Given the description of an element on the screen output the (x, y) to click on. 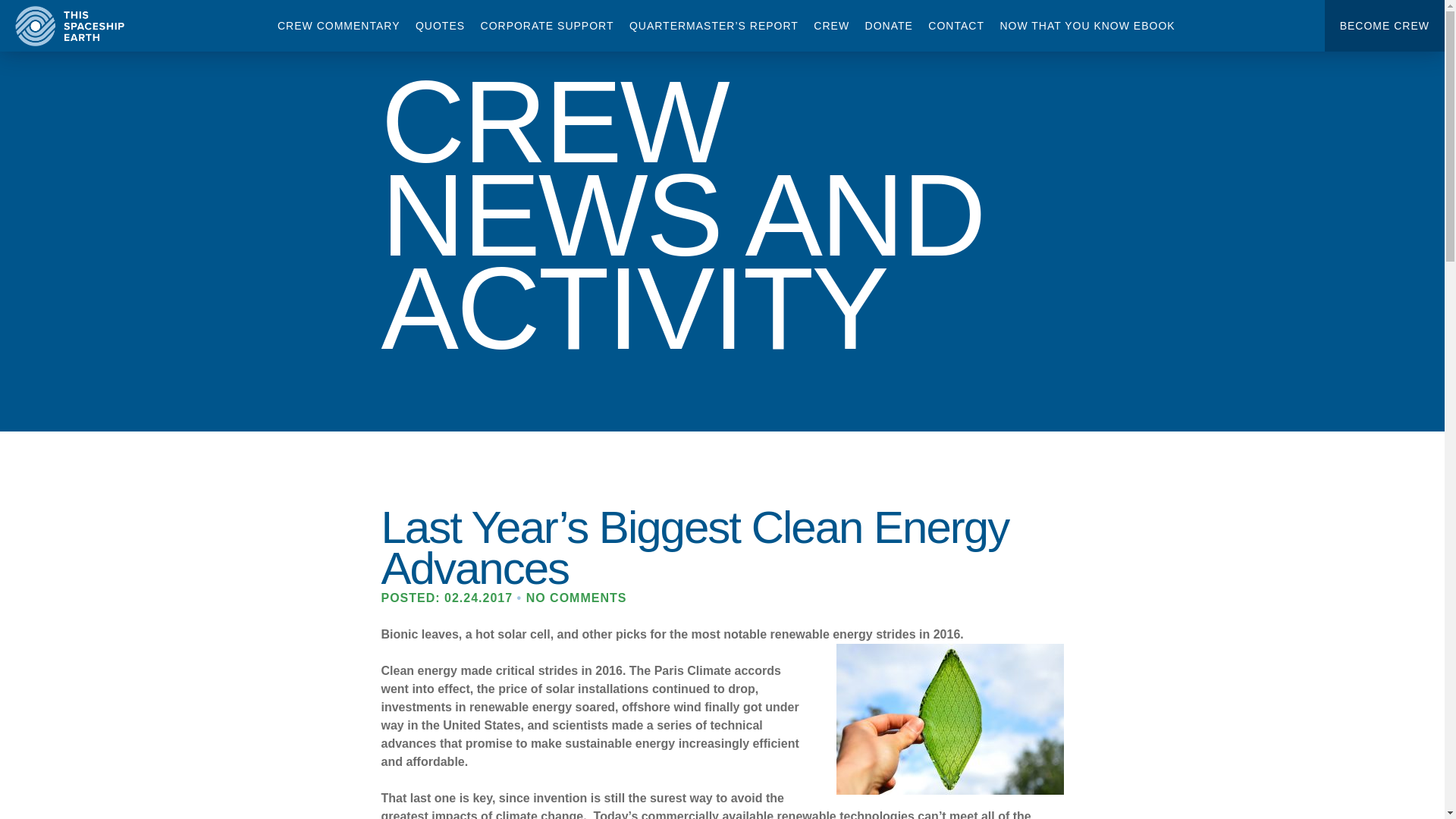
CORPORATE SUPPORT (547, 25)
DONATE (889, 25)
QUOTES (440, 25)
CONTACT (956, 25)
CREW COMMENTARY (338, 25)
NOW THAT YOU KNOW EBOOK (1086, 25)
NO COMMENTS (576, 597)
CREW (831, 25)
